Given the description of an element on the screen output the (x, y) to click on. 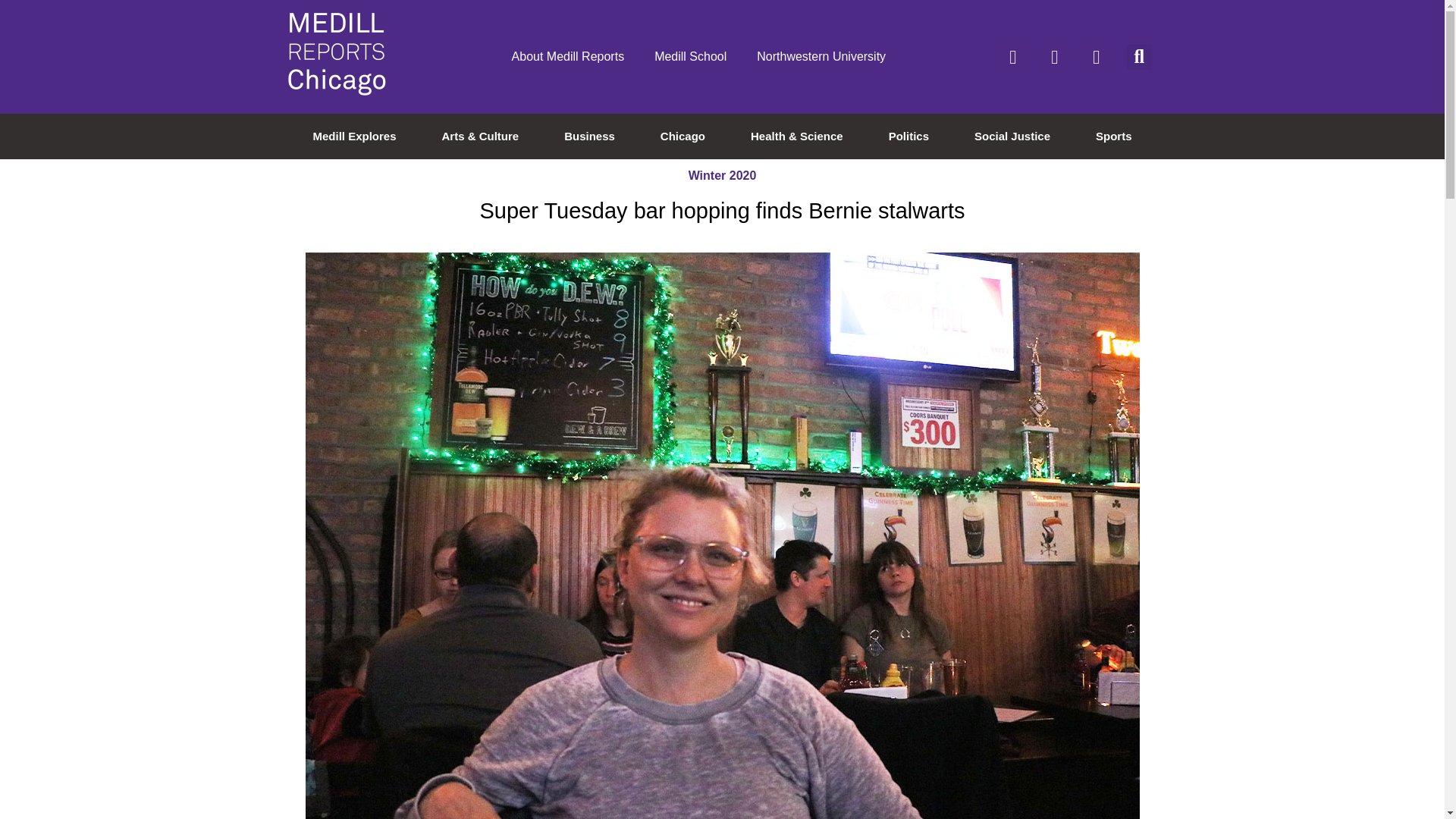
Northwestern University (821, 56)
About Medill Reports (568, 56)
Medill School (690, 56)
Medill Explores (354, 135)
